Given the description of an element on the screen output the (x, y) to click on. 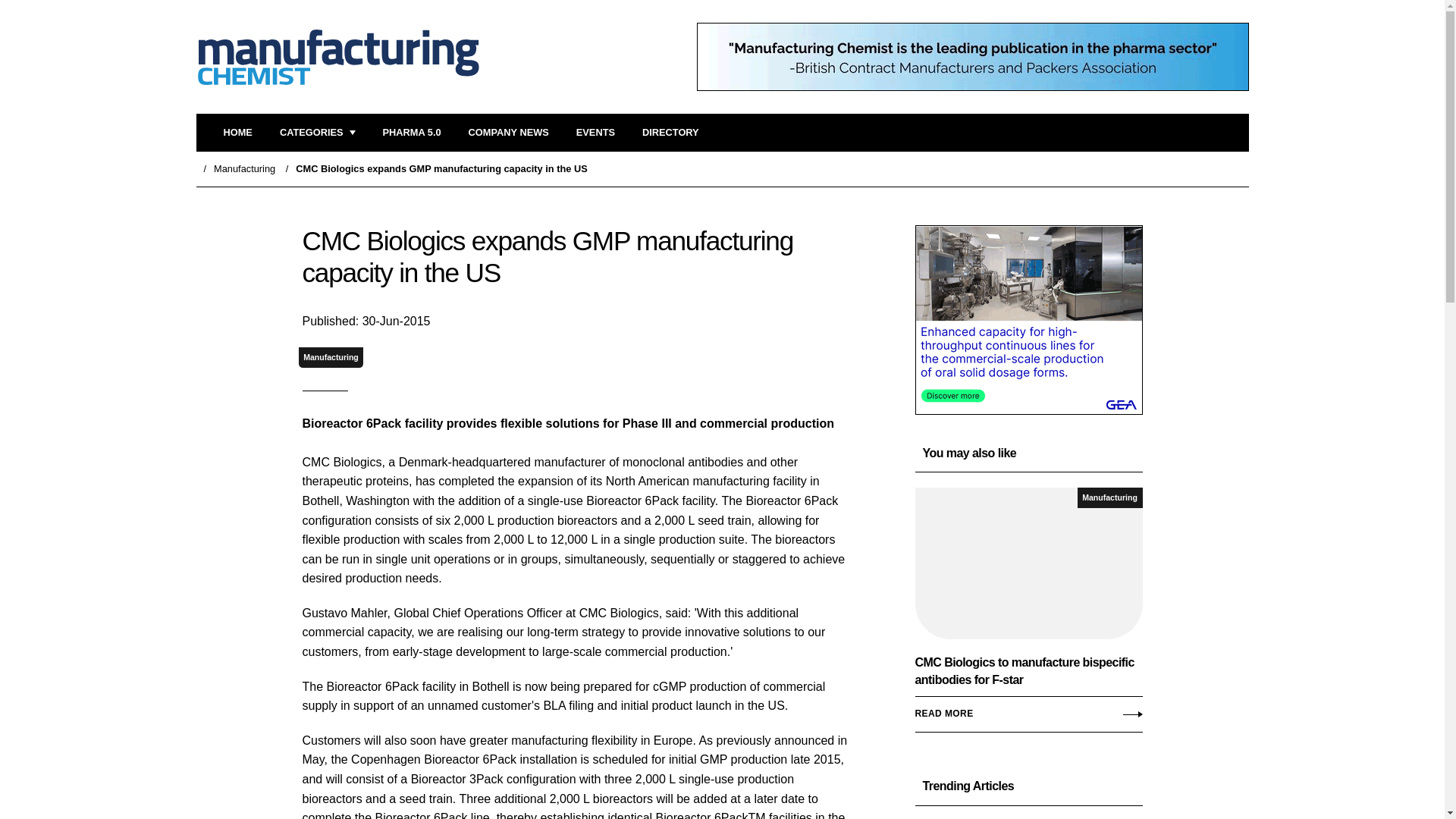
Directory (670, 133)
PHARMA 5.0 (411, 133)
Manufacturing (1109, 497)
EVENTS (595, 133)
COMPANY NEWS (508, 133)
Pharma 5.0 (411, 133)
HOME (236, 133)
DIRECTORY (670, 133)
Manufacturing (331, 357)
CATEGORIES (317, 133)
Manufacturing (244, 168)
